Given the description of an element on the screen output the (x, y) to click on. 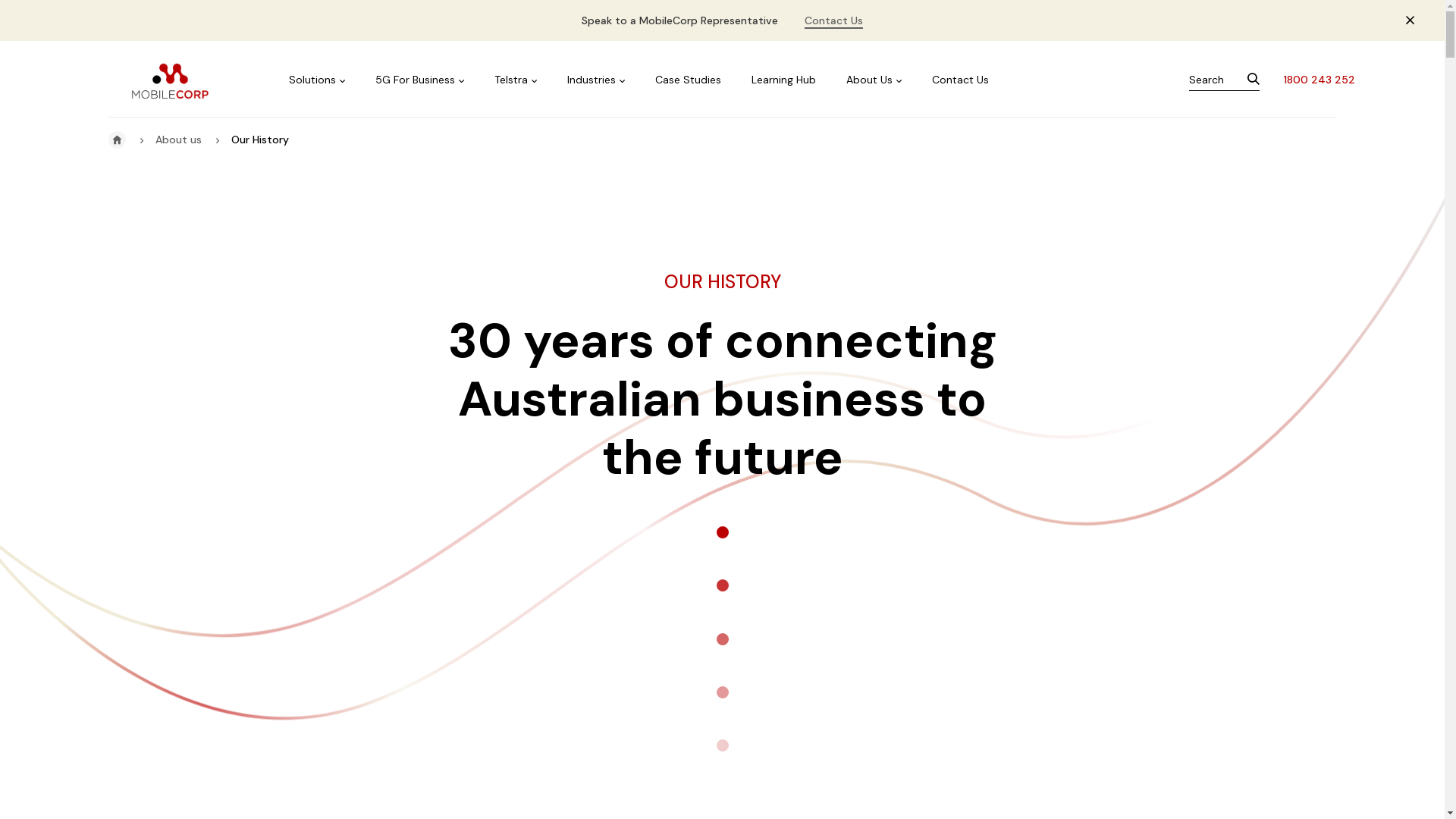
Learning Hub Element type: text (783, 79)
Contact Us Element type: text (960, 79)
Industries Element type: text (595, 79)
Contact Us Element type: text (833, 20)
Home Page Element type: text (116, 139)
1800 243 252 Element type: text (1318, 79)
About us Element type: text (178, 139)
Telstra Element type: text (515, 79)
5G For Business Element type: text (419, 79)
Solutions Element type: text (316, 79)
Case Studies Element type: text (687, 79)
About Us Element type: text (873, 79)
